Given the description of an element on the screen output the (x, y) to click on. 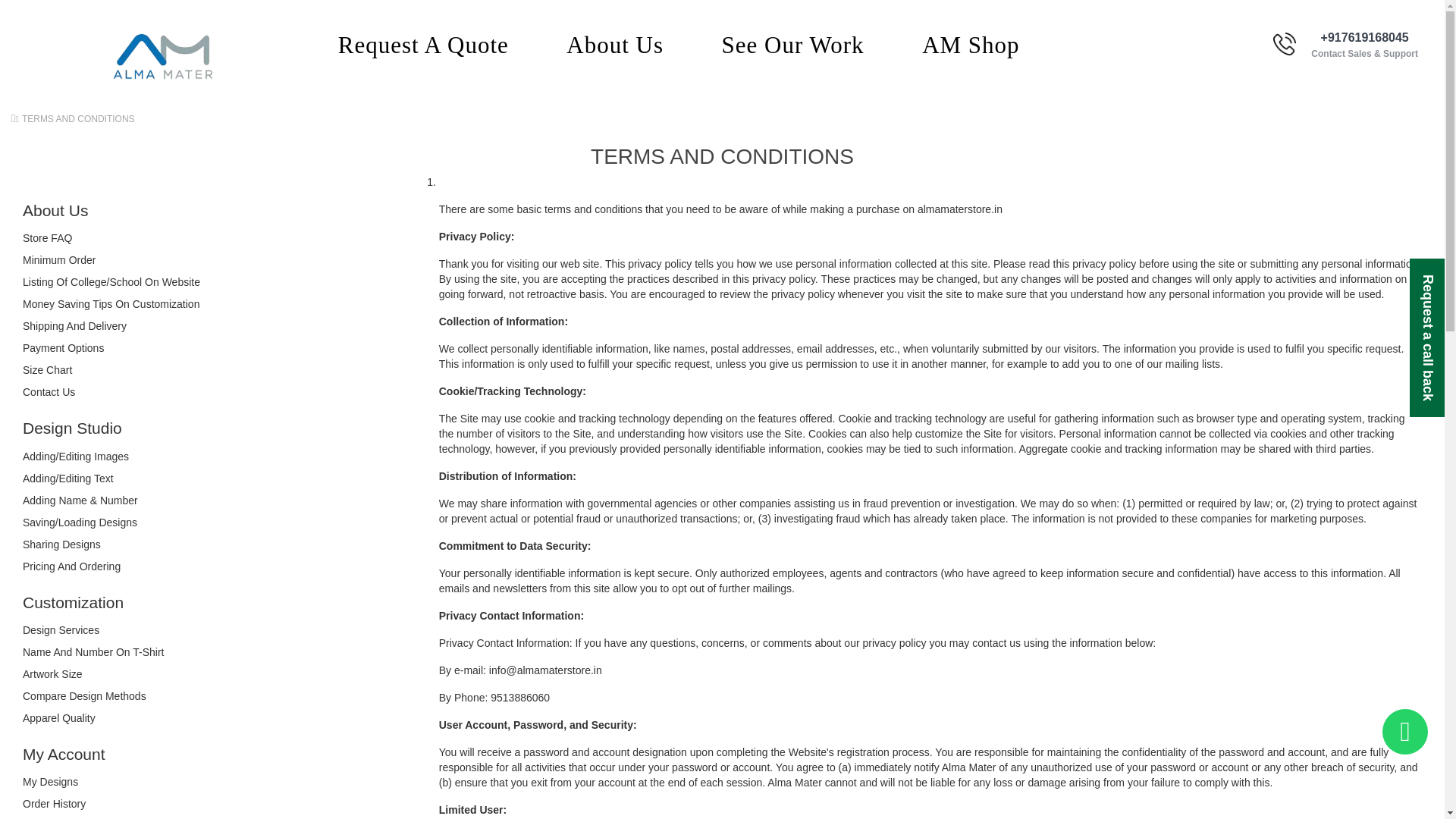
Request A Quote (422, 47)
About Us (614, 47)
Alma Mater Store (162, 56)
AM Shop (970, 47)
See Our Work (793, 47)
Store FAQ (47, 237)
Payment Options (63, 347)
whatsapp (1404, 731)
Minimum Order (59, 259)
Money Saving Tips On Customization (111, 304)
Size Chart (47, 369)
TERMS AND CONDITIONS (78, 118)
Shipping And Delivery (74, 326)
Contact Us (49, 391)
